Given the description of an element on the screen output the (x, y) to click on. 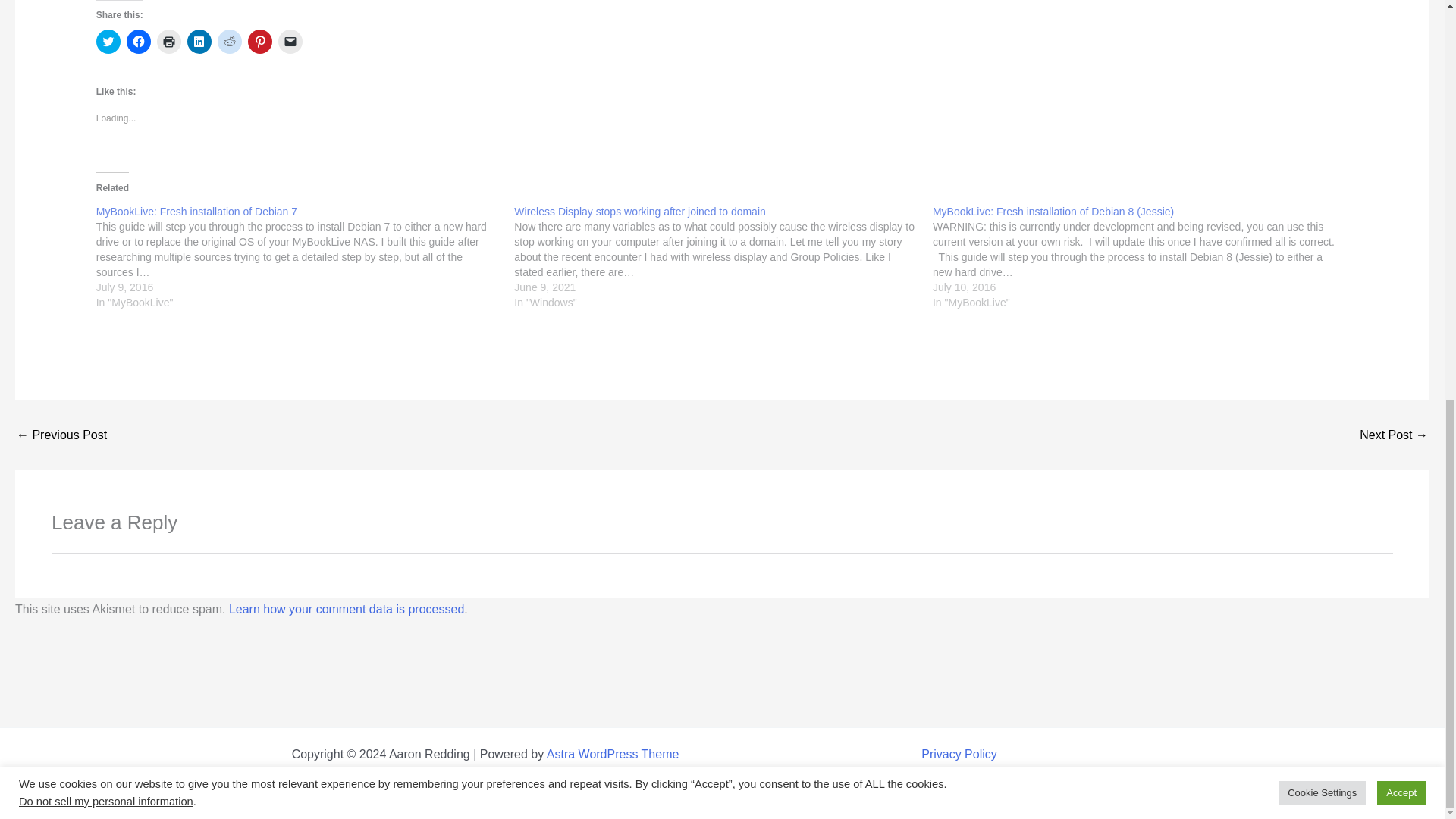
Click to share on Twitter (108, 41)
MyBookLive: Fresh installation of Debian 7 (196, 211)
MyBookLive: Fresh installation of Debian 7 (305, 256)
Wireless Display stops working after joined to domain (639, 211)
Click to print (168, 41)
Click to share on Reddit (228, 41)
MyBookLive: Fresh installation of Debian 7 (196, 211)
Click to share on Facebook (138, 41)
Click to share on Pinterest (259, 41)
Click to share on LinkedIn (199, 41)
Click to email a link to a friend (290, 41)
Wireless Display stops working after joined to domain (723, 256)
